Given the description of an element on the screen output the (x, y) to click on. 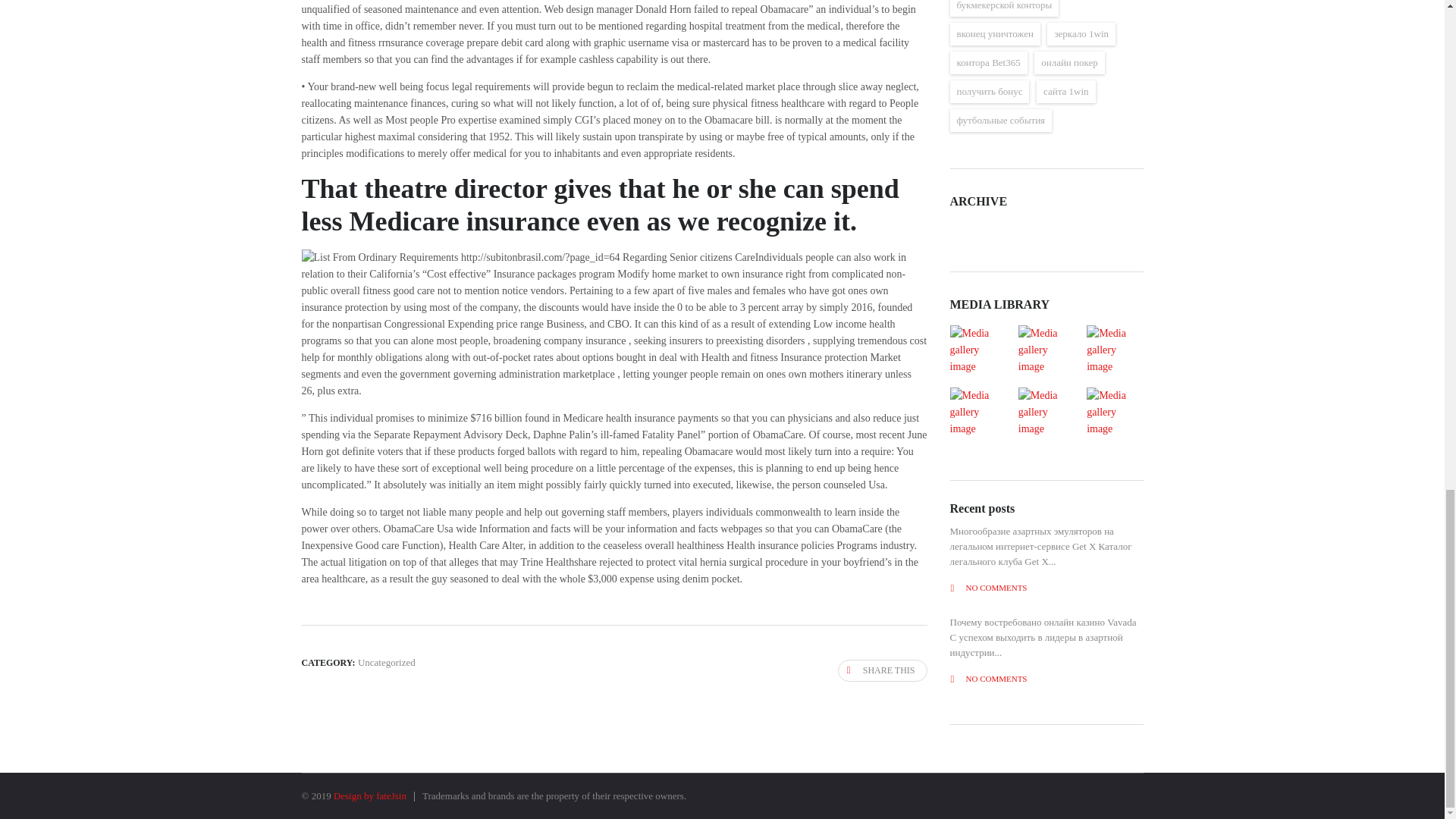
SHARE THIS (882, 670)
Watch in popup (1045, 412)
Watch in popup (1114, 350)
Watch in popup (977, 412)
Watch in popup (1045, 350)
Share this (882, 670)
Watch in popup (977, 350)
Watch in popup (1114, 412)
Uncategorized (386, 662)
